Given the description of an element on the screen output the (x, y) to click on. 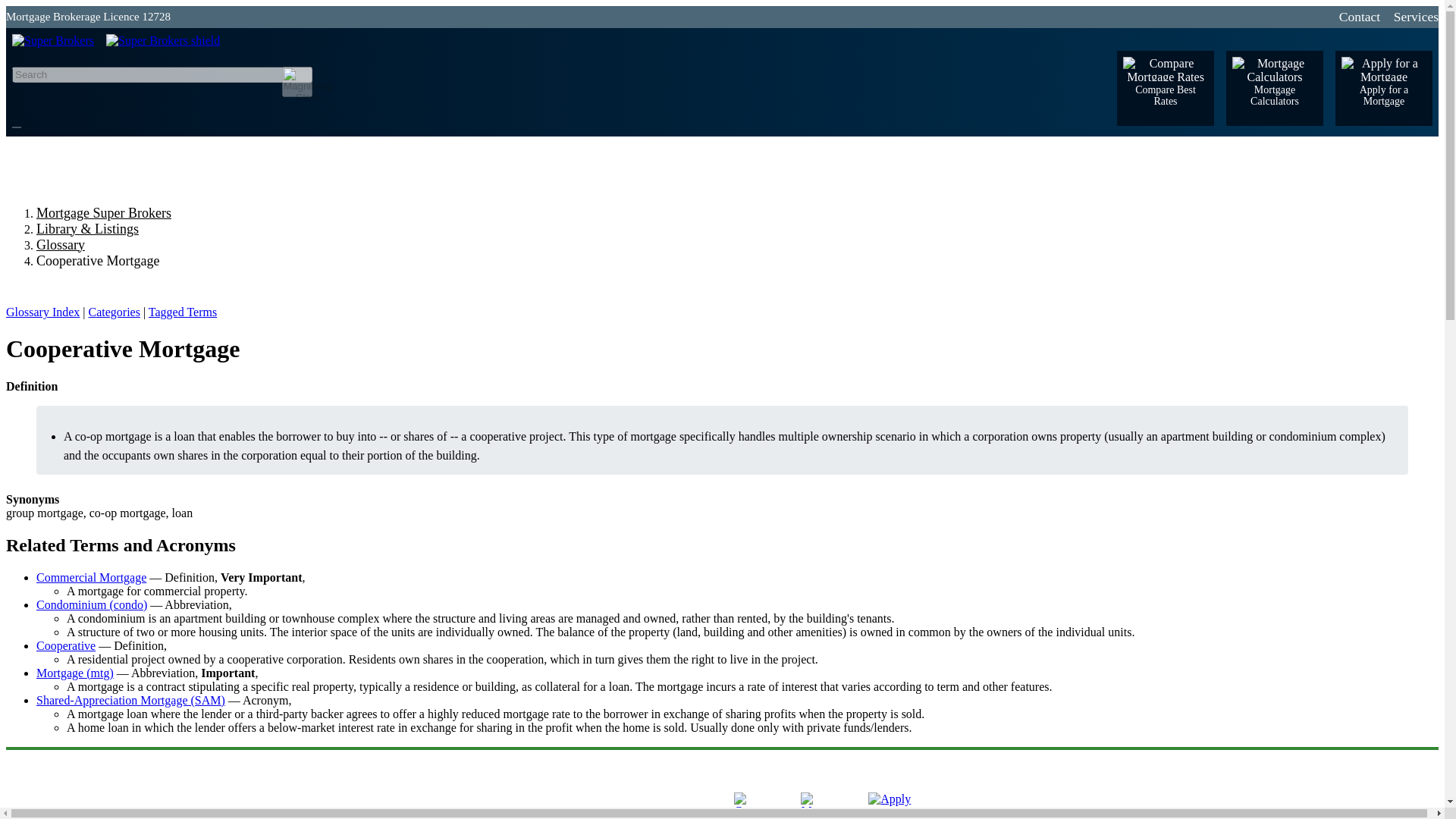
Glossary Index (42, 311)
Contact (1363, 17)
Apply for a Mortgage (1383, 88)
Tagged Terms (182, 311)
Cooperative (66, 645)
Services (1412, 17)
Glossary (60, 245)
Mortgage Calculators (1274, 88)
Commercial Mortgage (91, 576)
Compare Best Rates (1165, 88)
